Given the description of an element on the screen output the (x, y) to click on. 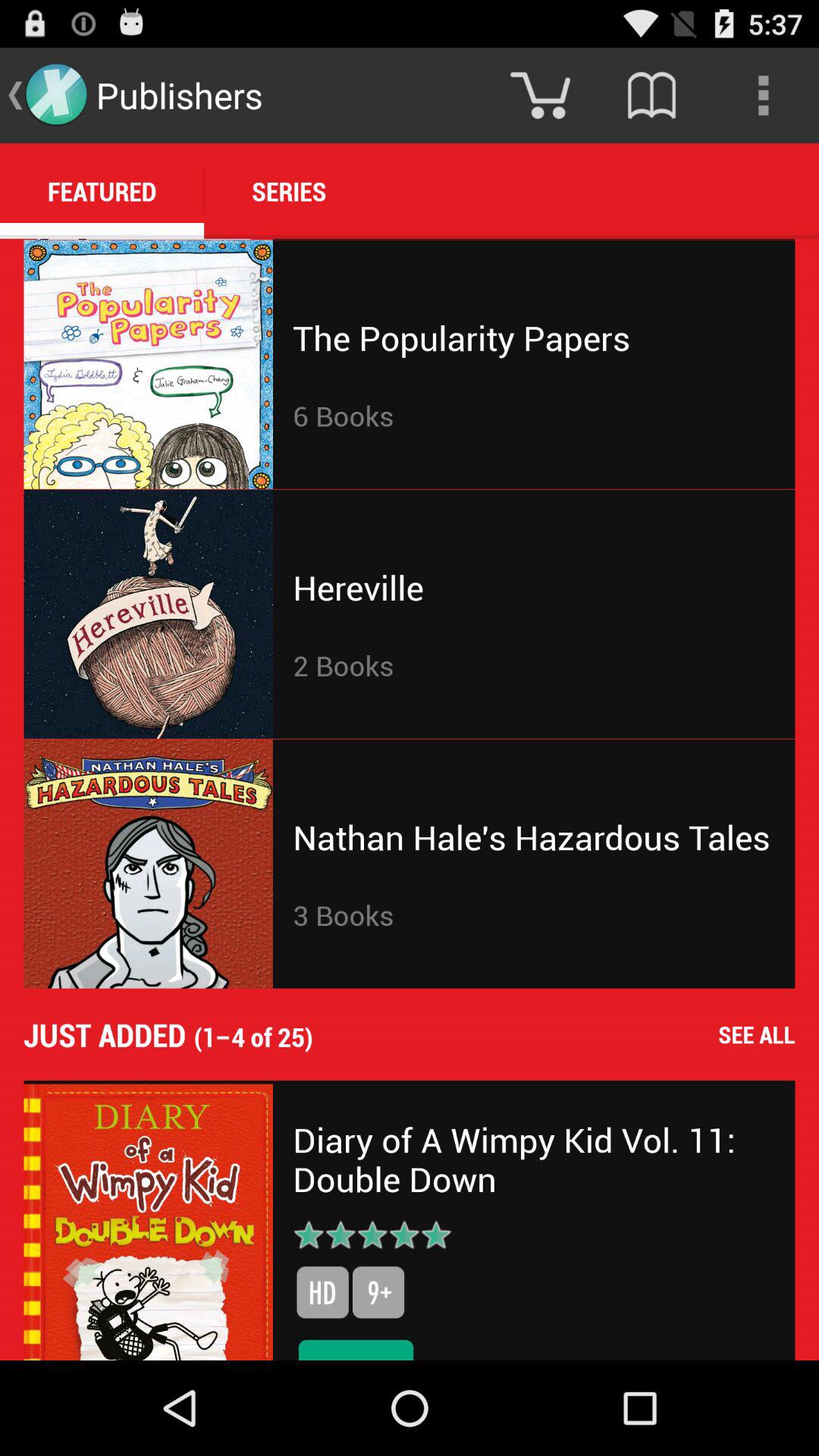
launch the $7.99 icon (355, 1347)
